Given the description of an element on the screen output the (x, y) to click on. 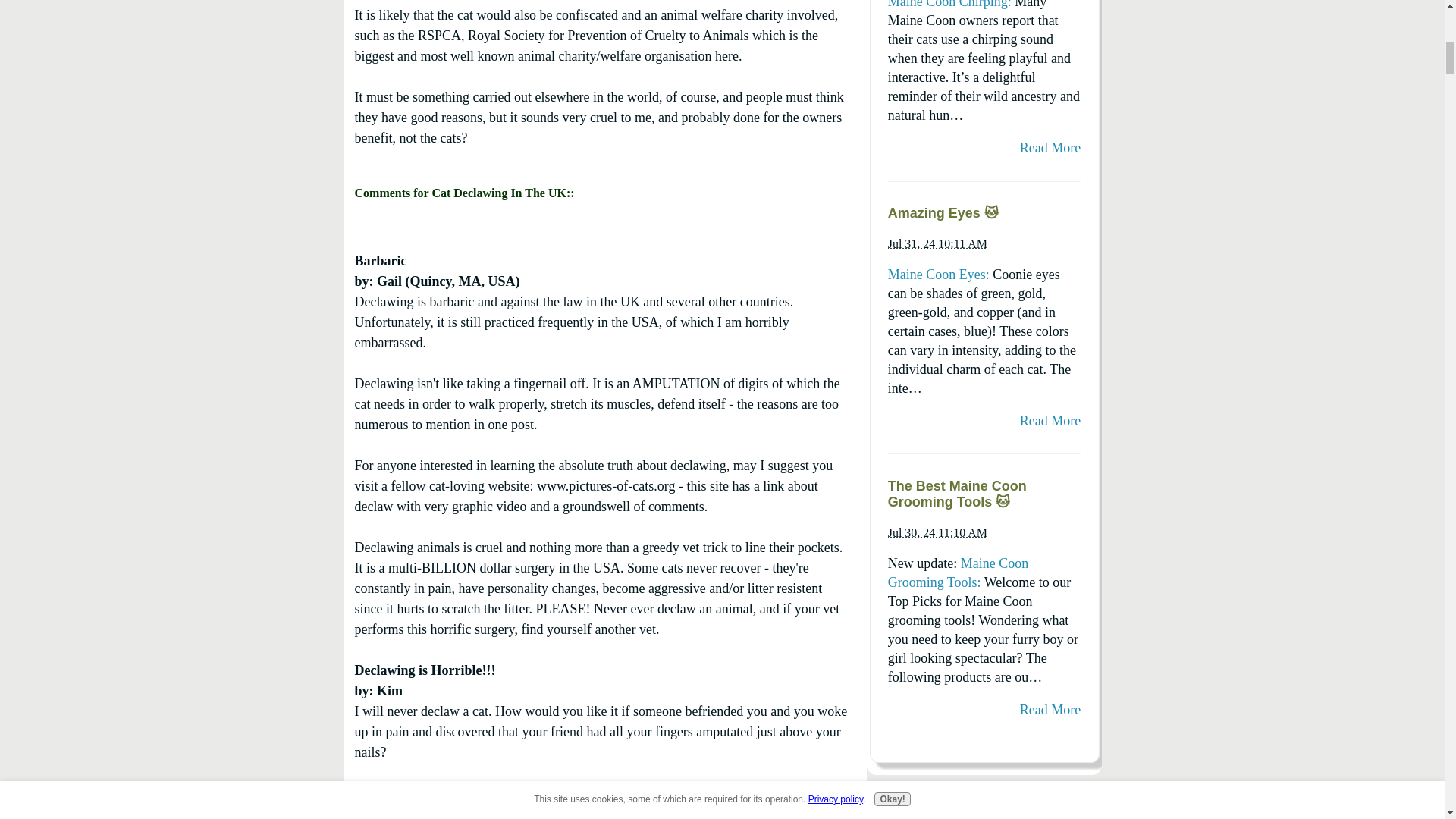
2024-07-31T10:11:22-0400 (937, 243)
2024-07-30T11:10:28-0400 (937, 532)
